Given the description of an element on the screen output the (x, y) to click on. 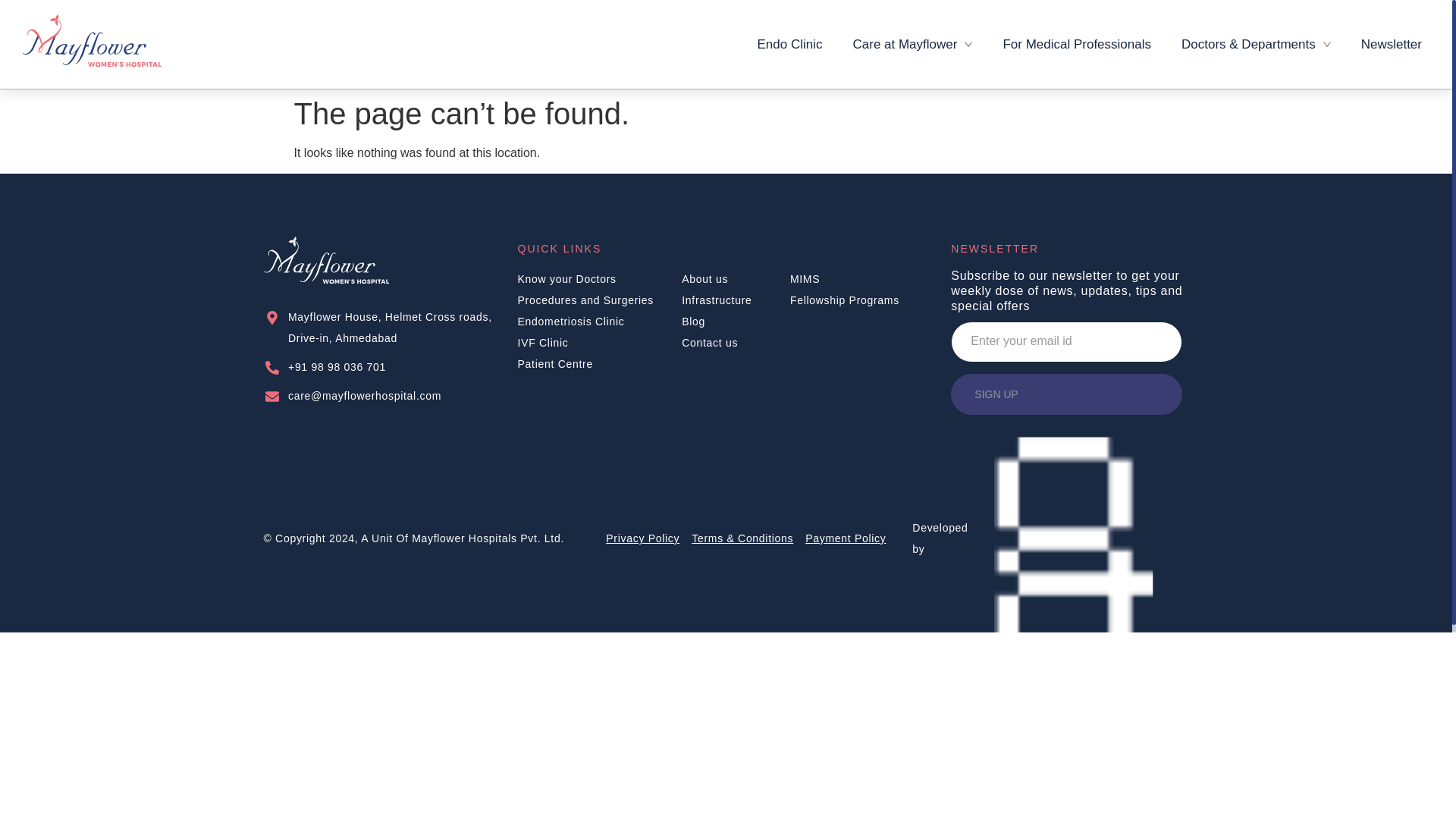
Endo Clinic (789, 44)
Infrastructure (735, 300)
Endometriosis Clinic (600, 321)
About us (735, 278)
Patient Centre (600, 363)
Fellowship Programs (858, 300)
Know your Doctors (600, 278)
Procedures and Surgeries (600, 300)
Care at Mayflower (912, 44)
MIMS (858, 278)
Blog (735, 321)
IVF Clinic (600, 342)
For Medical Professionals (1076, 44)
Newsletter (1391, 44)
Contact us (735, 342)
